Given the description of an element on the screen output the (x, y) to click on. 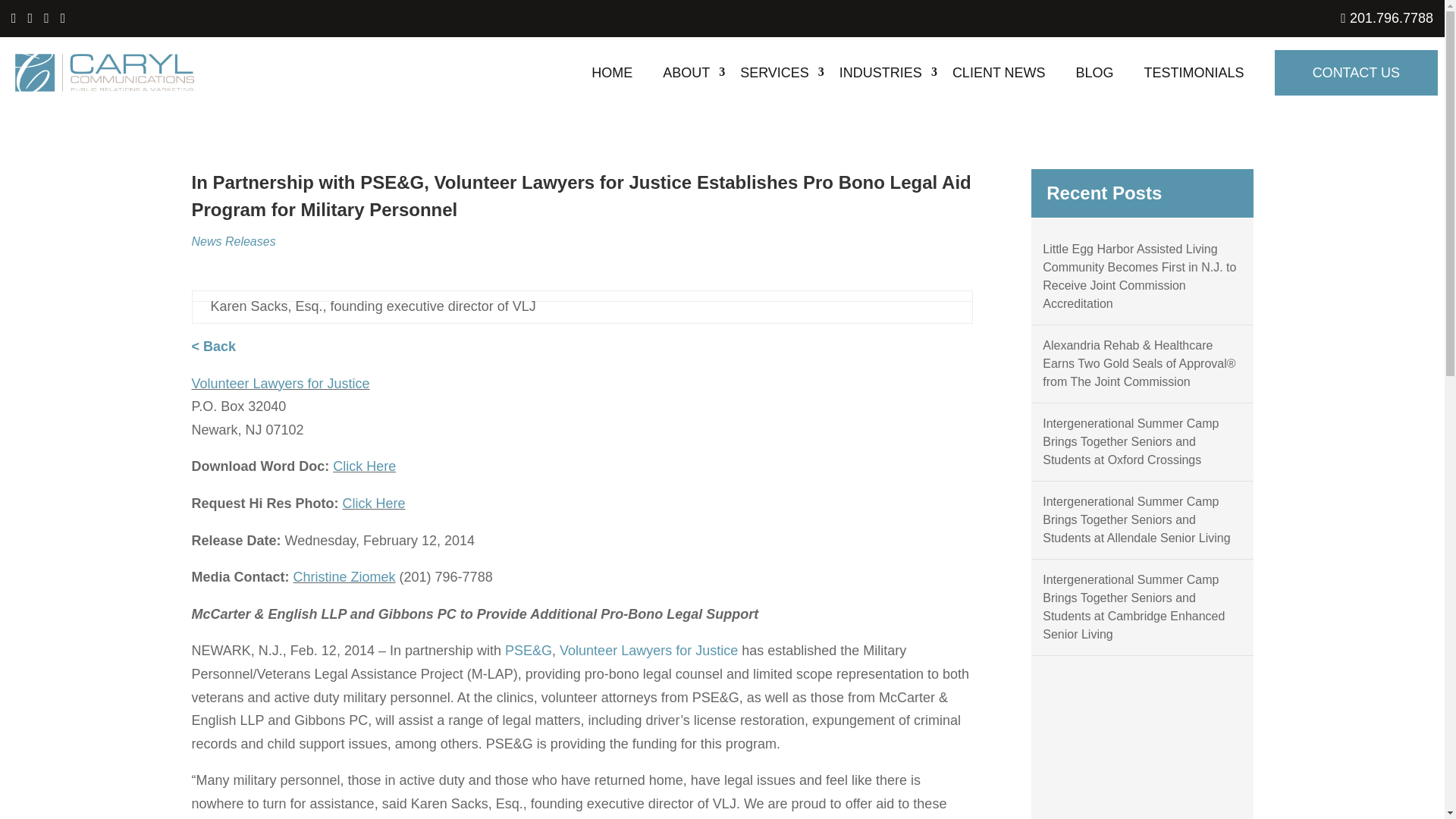
Click Here (364, 466)
CLIENT NEWS (998, 72)
Caryl-logo (104, 73)
201.796.7788 (1386, 17)
INDUSTRIES (880, 72)
Click Here (374, 503)
TESTIMONIALS (1194, 72)
News Releases (232, 241)
CONTACT US (1356, 72)
SERVICES (774, 72)
